Given the description of an element on the screen output the (x, y) to click on. 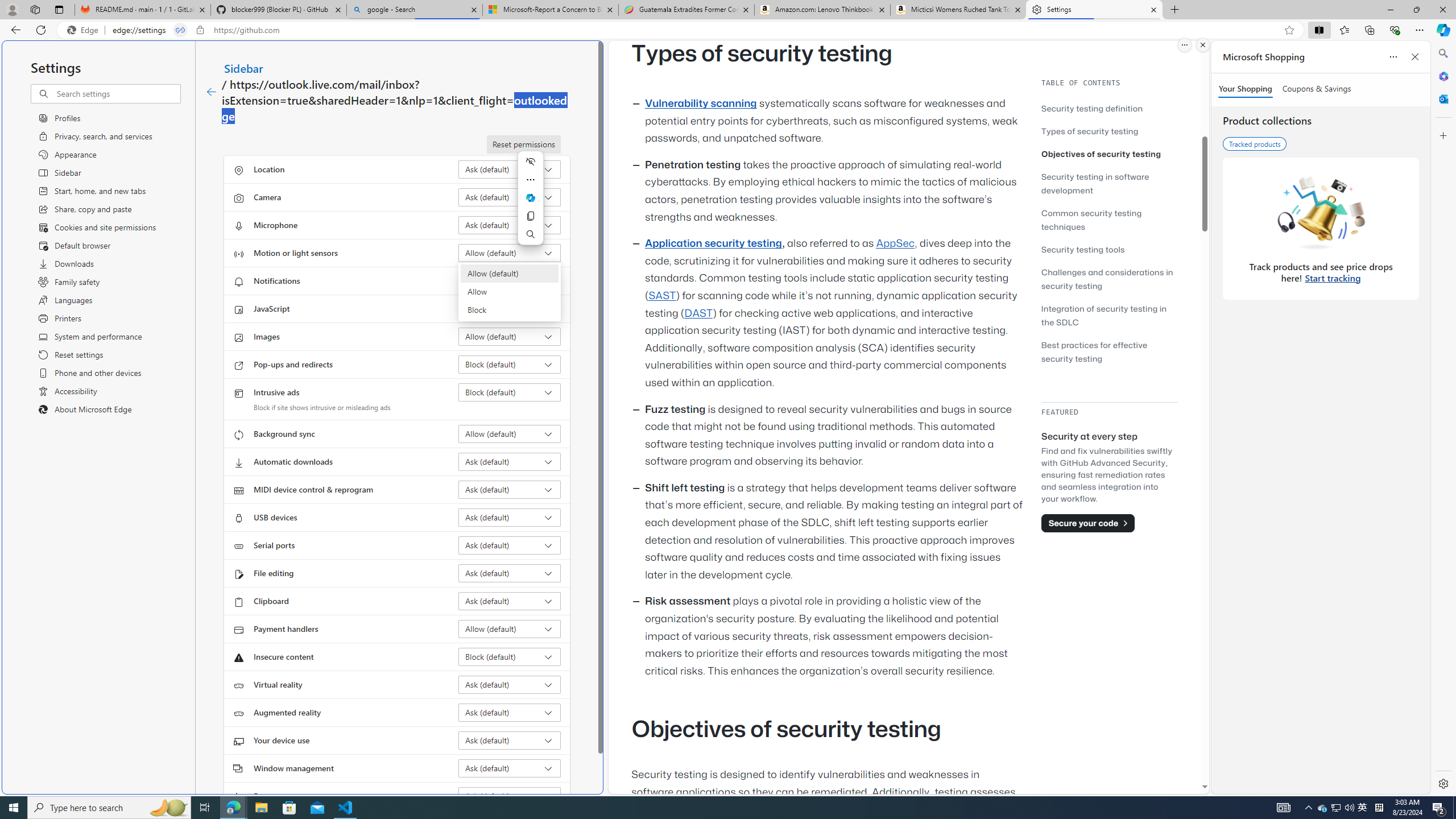
Challenges and considerations in security testing (1109, 279)
Back (13, 29)
Objectives of security testing (1109, 153)
Security testing tools (1109, 249)
Search (1442, 53)
Intrusive ads Block (default) (509, 392)
View site information (200, 29)
Tab actions menu (58, 9)
Browser essentials (1394, 29)
Side bar (1443, 418)
Microsoft 365 (1442, 76)
Outlook (1442, 98)
Copilot (Ctrl+Shift+.) (1442, 29)
Close (1442, 9)
Motion or light sensors Allow (default) (509, 253)
